Given the description of an element on the screen output the (x, y) to click on. 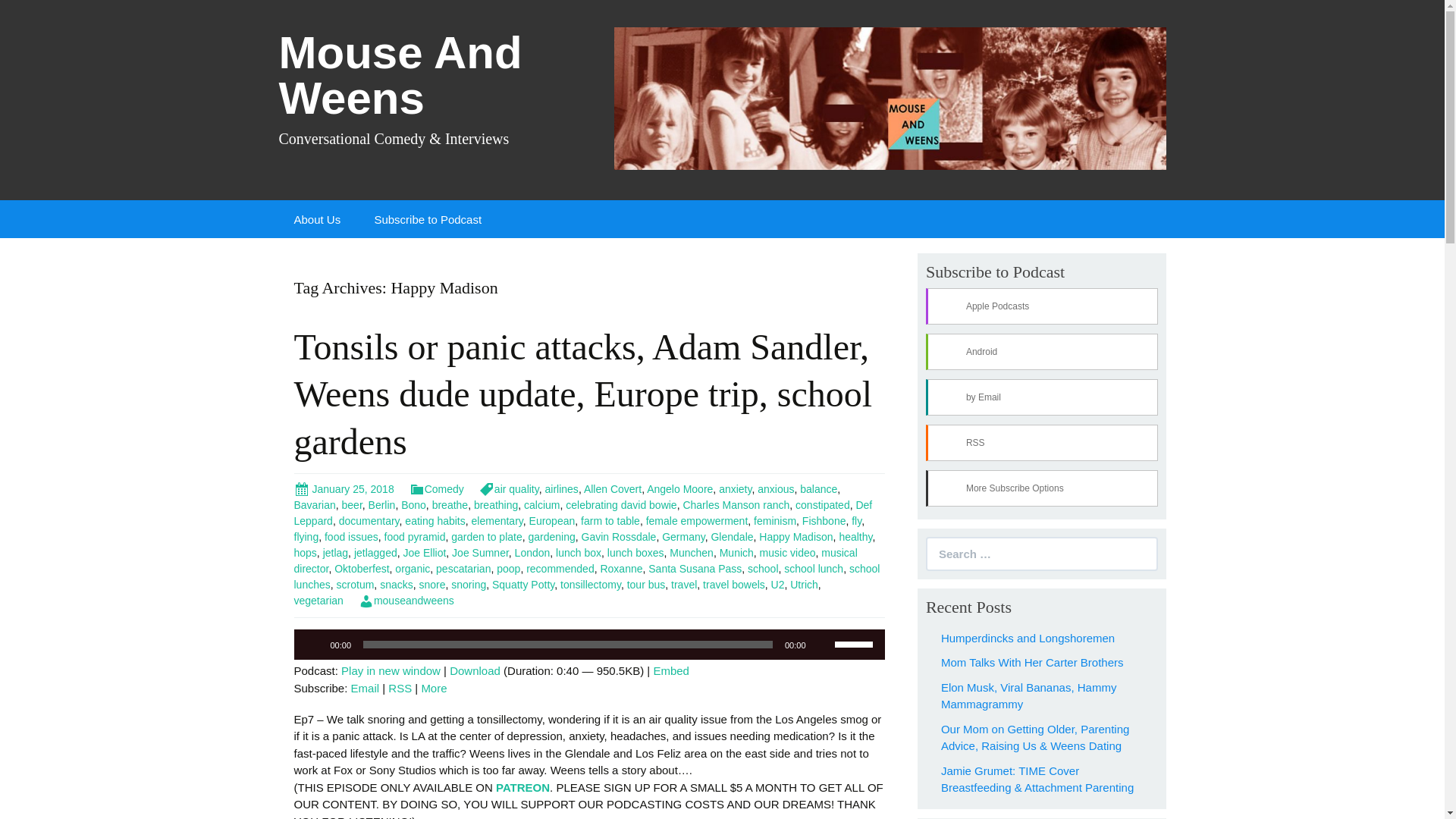
flying (306, 536)
food pyramid (414, 536)
Mute (821, 644)
January 25, 2018 (344, 489)
Berlin (382, 504)
Subscribe by Email (365, 687)
breathing (496, 504)
constipated (822, 504)
Fishbone (823, 521)
eating habits (434, 521)
anxiety (735, 489)
View all posts by mouseandweens (406, 600)
balance (818, 489)
European (552, 521)
farm to table (610, 521)
